Given the description of an element on the screen output the (x, y) to click on. 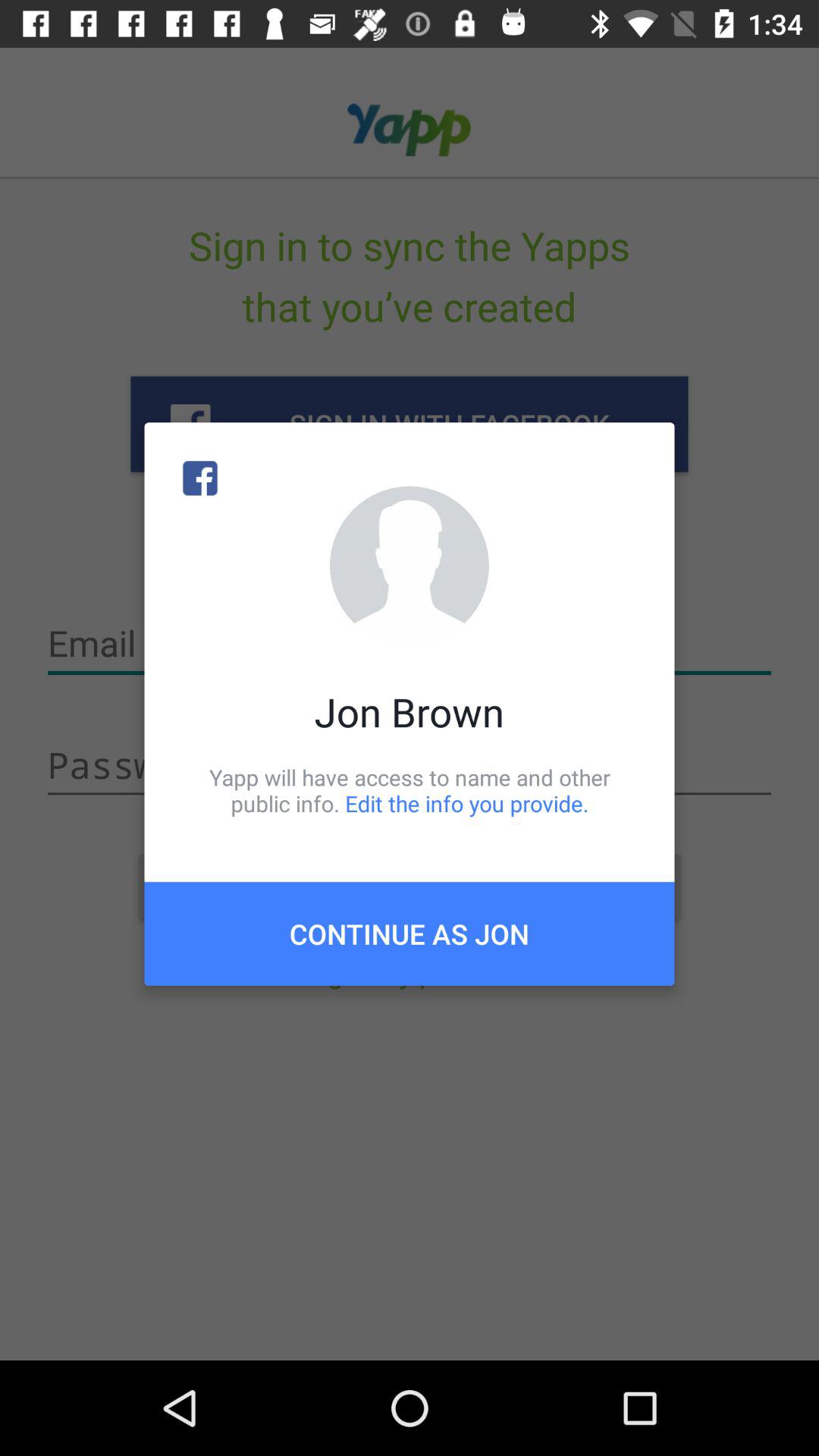
jump to the continue as jon (409, 933)
